Given the description of an element on the screen output the (x, y) to click on. 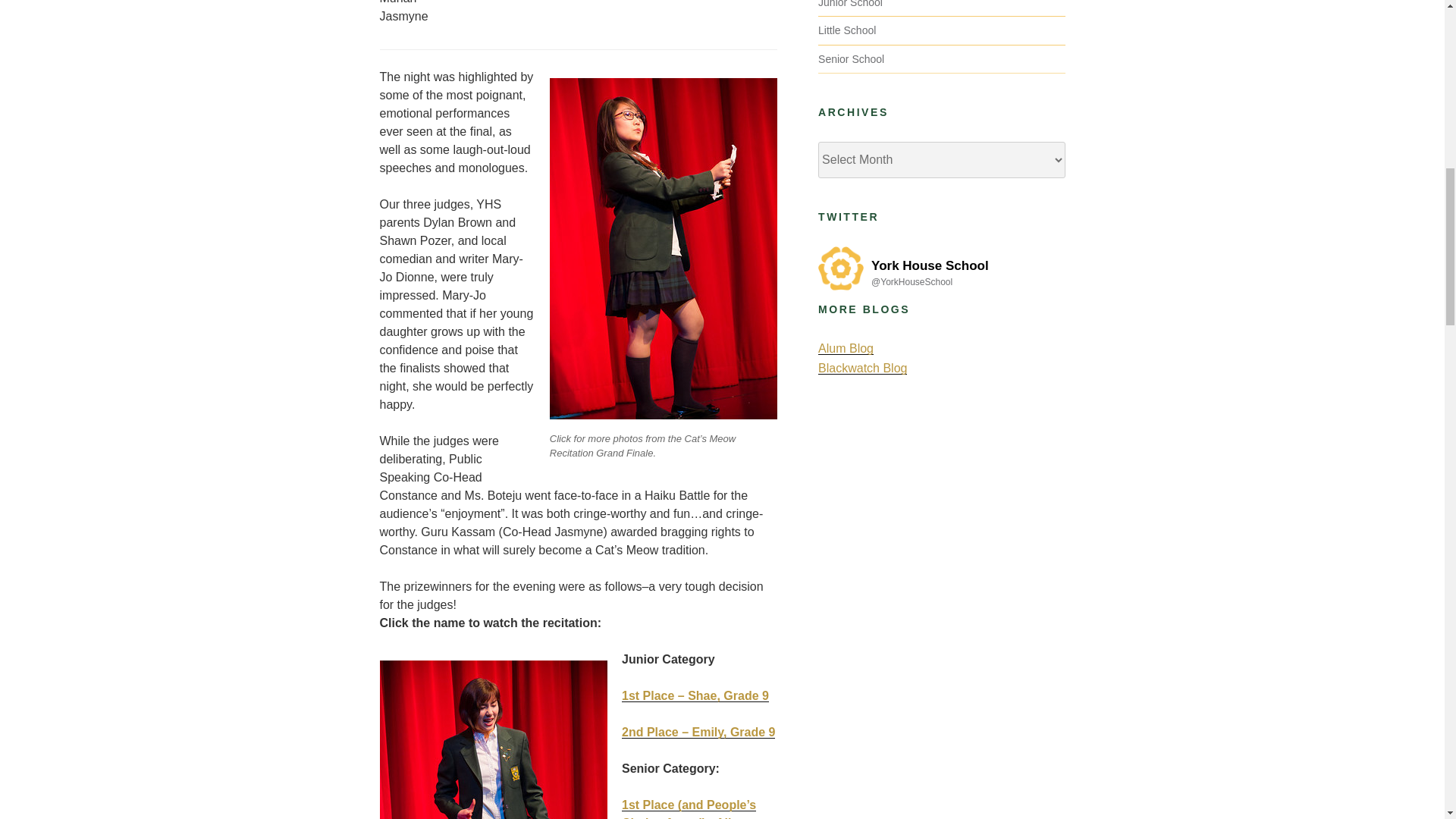
Blackwatch Blog (862, 367)
Alum Blog (845, 348)
Senior School (850, 59)
Junior School (850, 4)
Cat's Meow Recitation Grand Finale (492, 739)
Little School (847, 30)
